Given the description of an element on the screen output the (x, y) to click on. 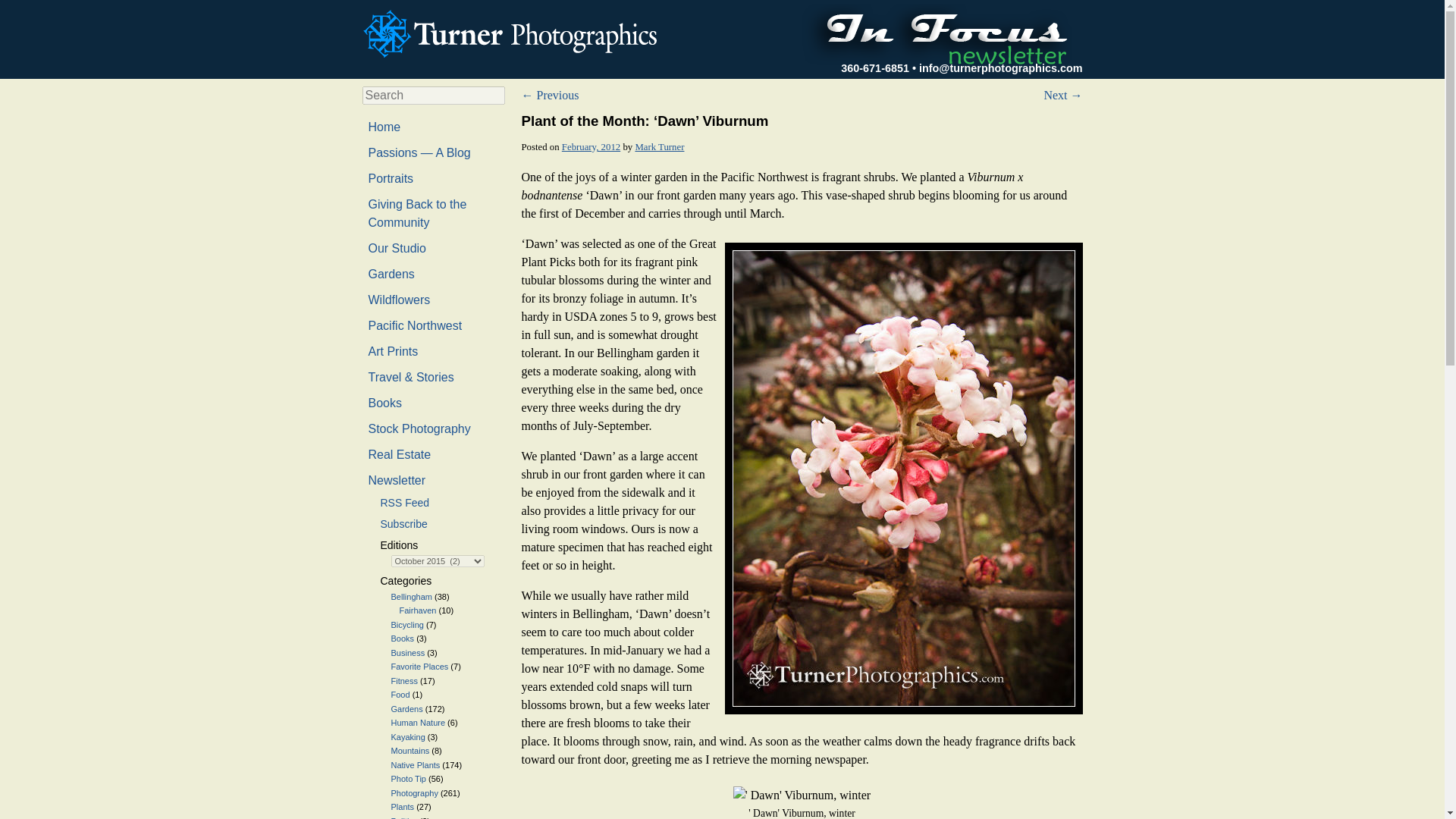
Turner Photographics (513, 31)
Mark Turner (659, 146)
360-671-6851 (874, 68)
Search (21, 11)
Turner Photographics (513, 33)
February, 2012 (591, 146)
' Dawn' Viburnum, winter (801, 795)
6:30 pm (591, 146)
View all posts by Mark Turner (659, 146)
Home (384, 126)
